Given the description of an element on the screen output the (x, y) to click on. 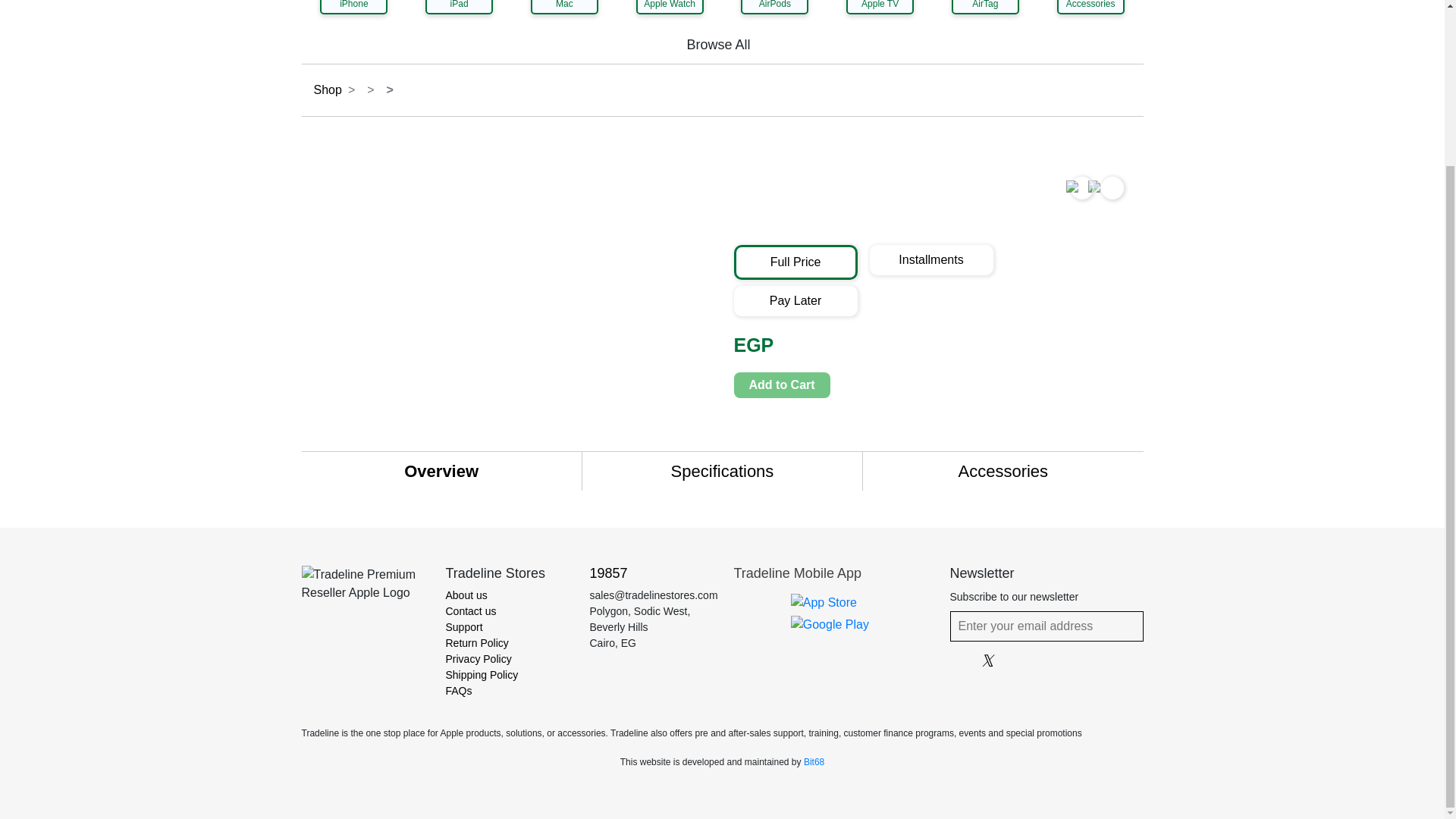
Mac (564, 7)
iPhone (353, 7)
Apple Watch (669, 7)
iPad (459, 7)
AirPods (774, 7)
Apple TV (879, 7)
